Given the description of an element on the screen output the (x, y) to click on. 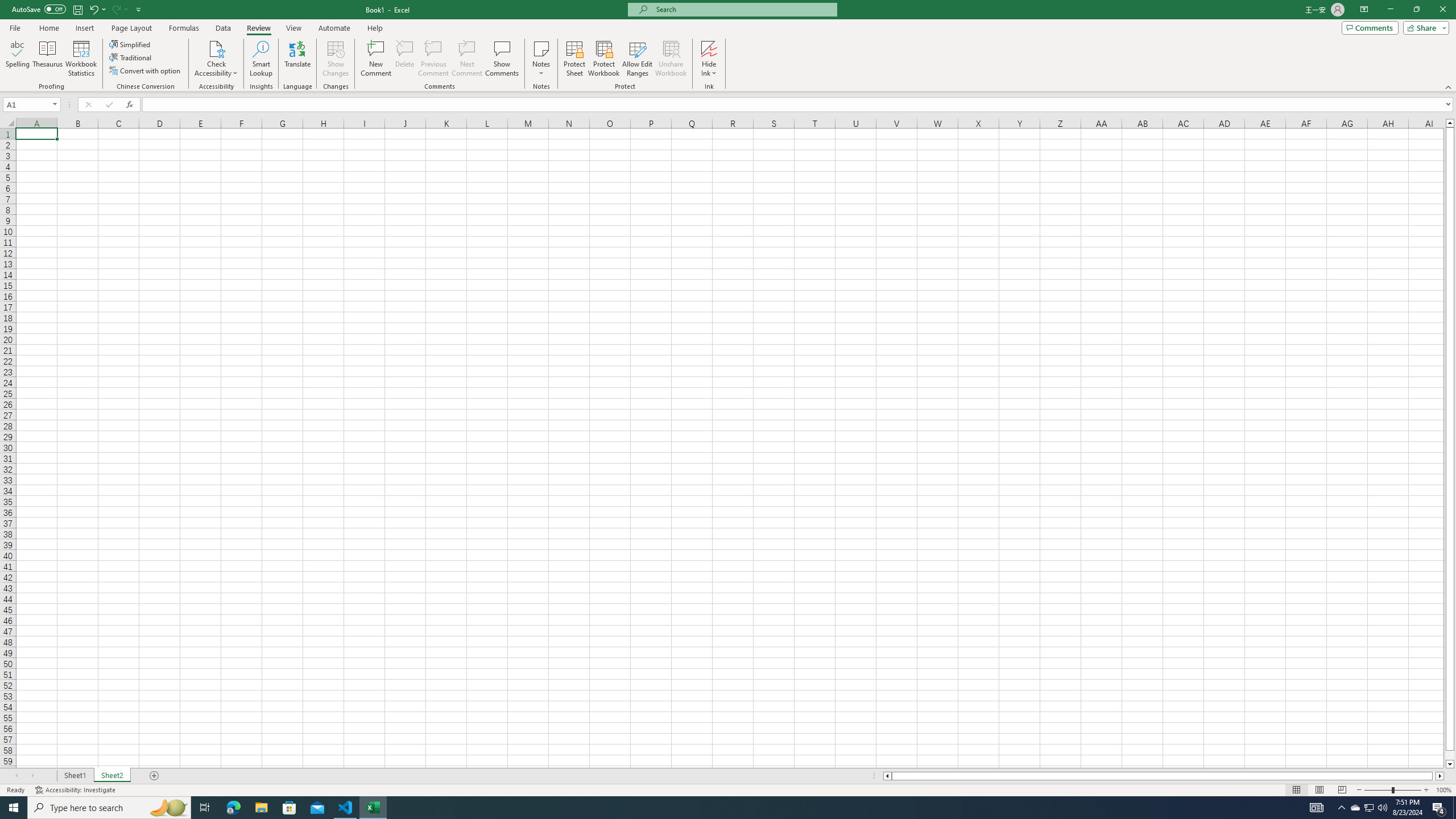
Previous Comment (432, 58)
Next Comment (466, 58)
Traditional (131, 56)
Show Comments (501, 58)
